Given the description of an element on the screen output the (x, y) to click on. 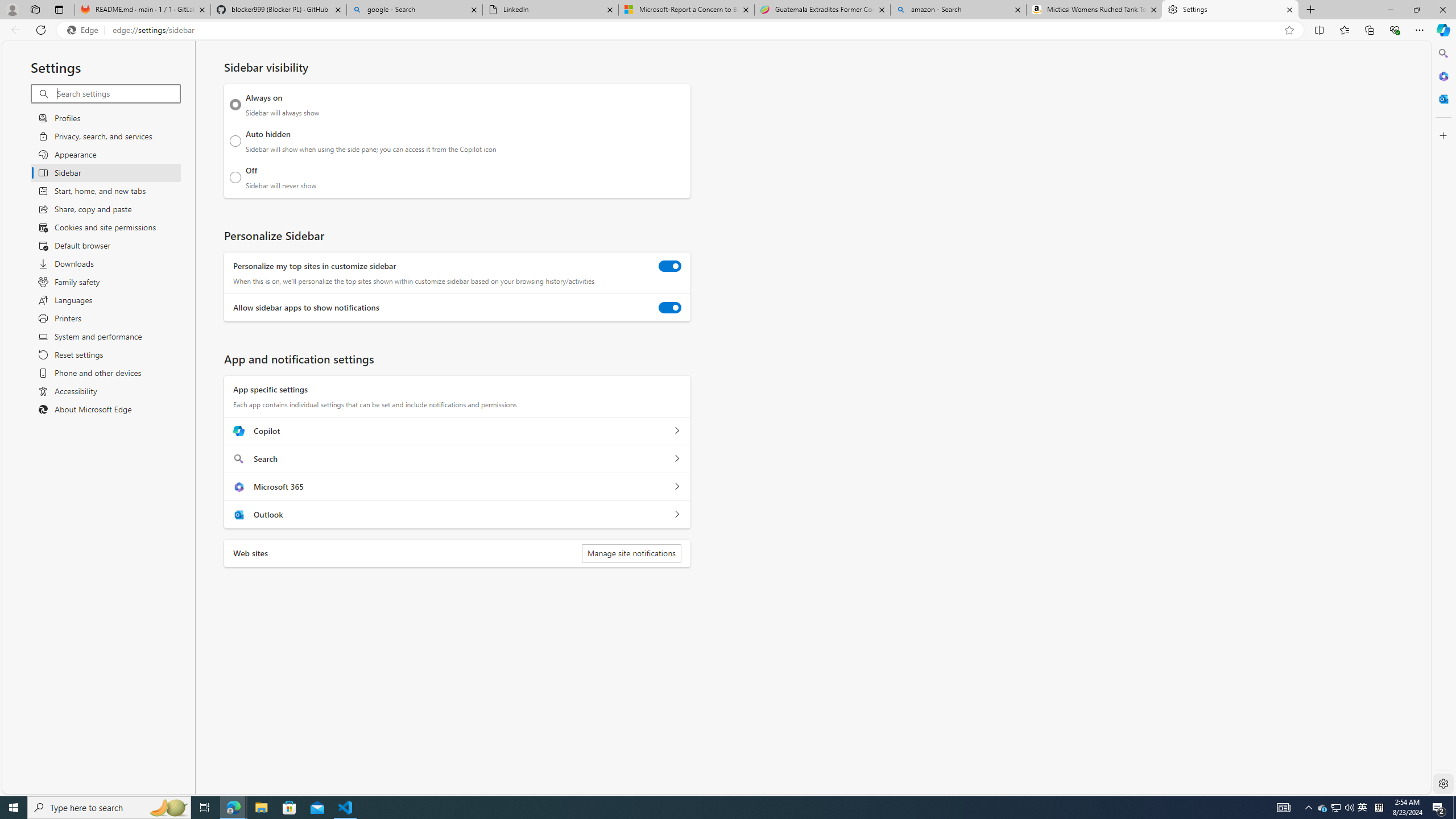
Manage site notifications (630, 553)
